Given the description of an element on the screen output the (x, y) to click on. 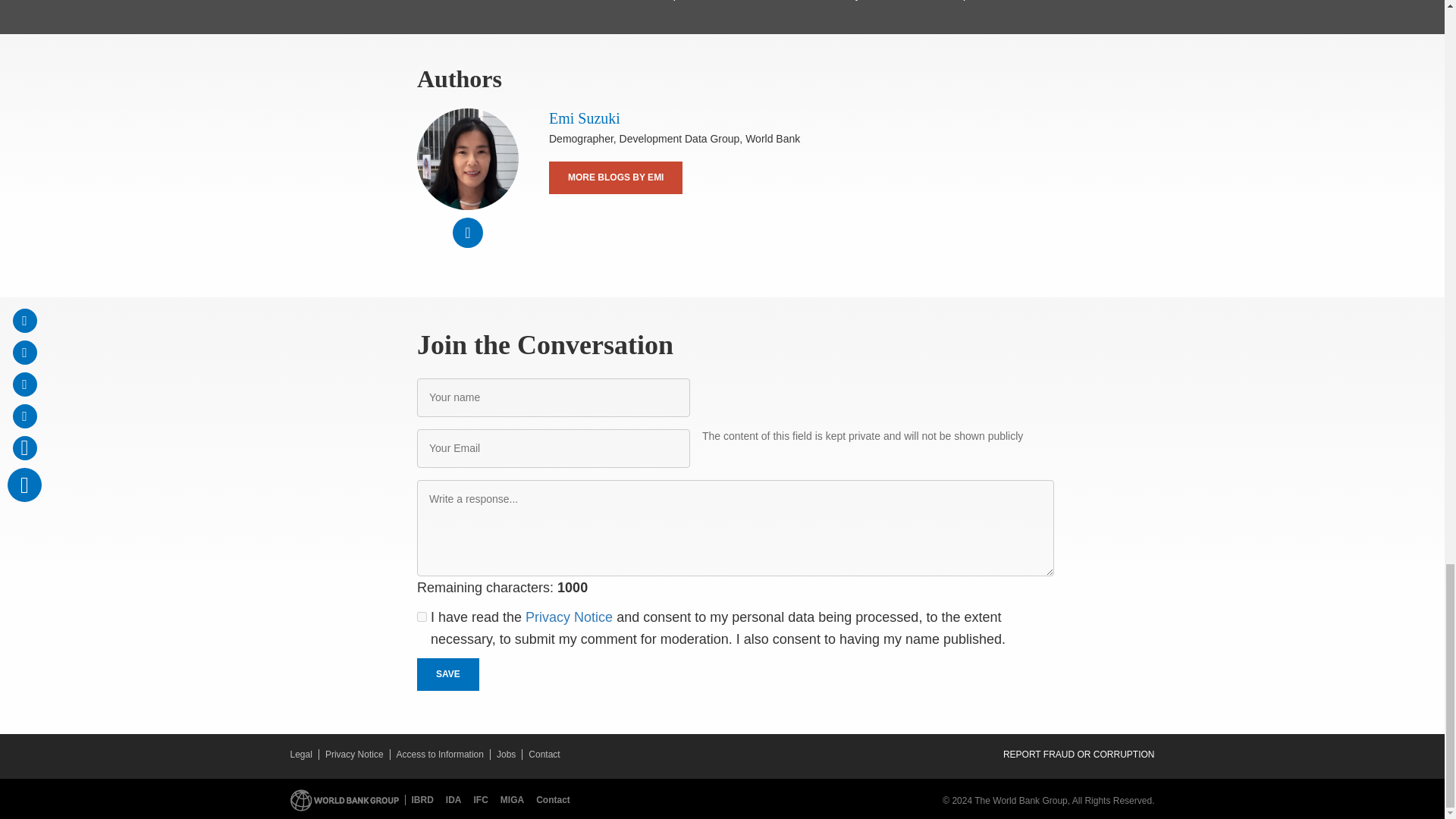
The World Bank Working for a World Free of Poverty (343, 800)
Contact (552, 799)
Your name (553, 397)
Emi Suzuki (467, 158)
IDA (456, 799)
IFC (484, 799)
MIGA (514, 799)
IBRD (421, 799)
1 (421, 616)
